Given the description of an element on the screen output the (x, y) to click on. 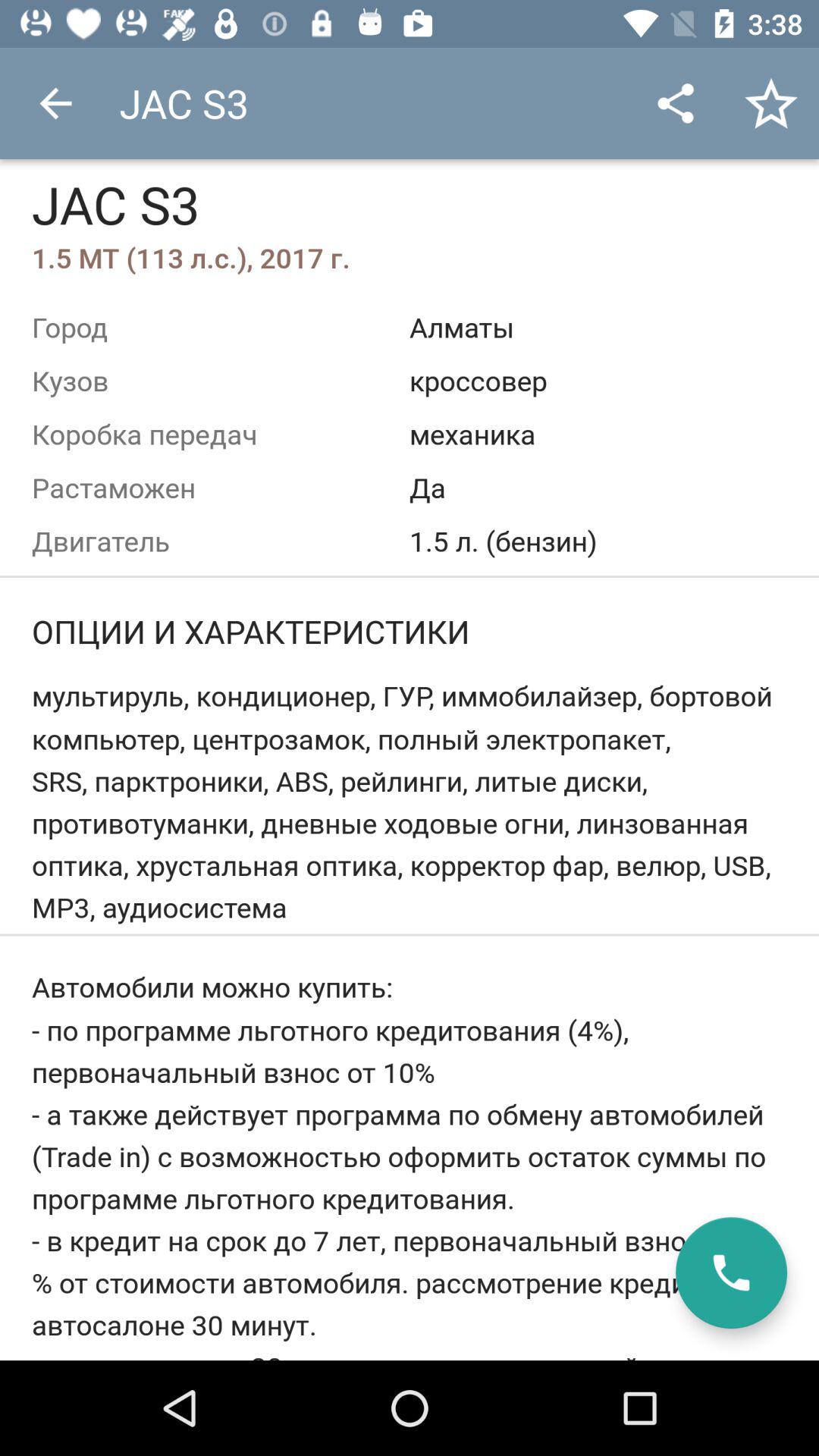
turn on the item at the bottom right corner (731, 1272)
